Given the description of an element on the screen output the (x, y) to click on. 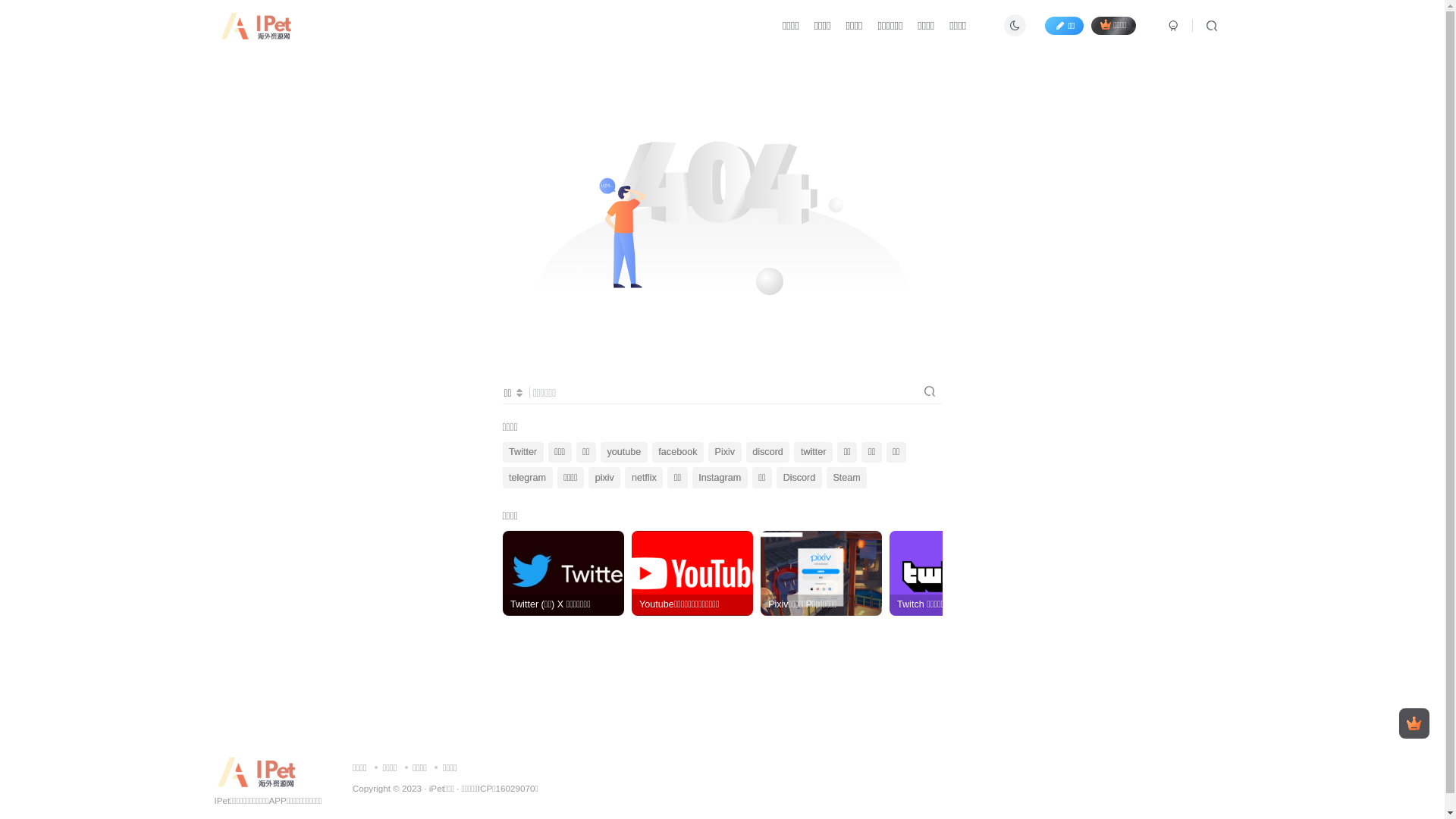
discord Element type: text (768, 452)
telegram Element type: text (527, 477)
youtube Element type: text (623, 452)
Instagram Element type: text (719, 477)
netflix Element type: text (643, 477)
pixiv Element type: text (604, 477)
Twitter Element type: text (522, 452)
Discord Element type: text (799, 477)
facebook Element type: text (677, 452)
twitter Element type: text (812, 452)
Pixiv Element type: text (724, 452)
Steam Element type: text (846, 477)
